Given the description of an element on the screen output the (x, y) to click on. 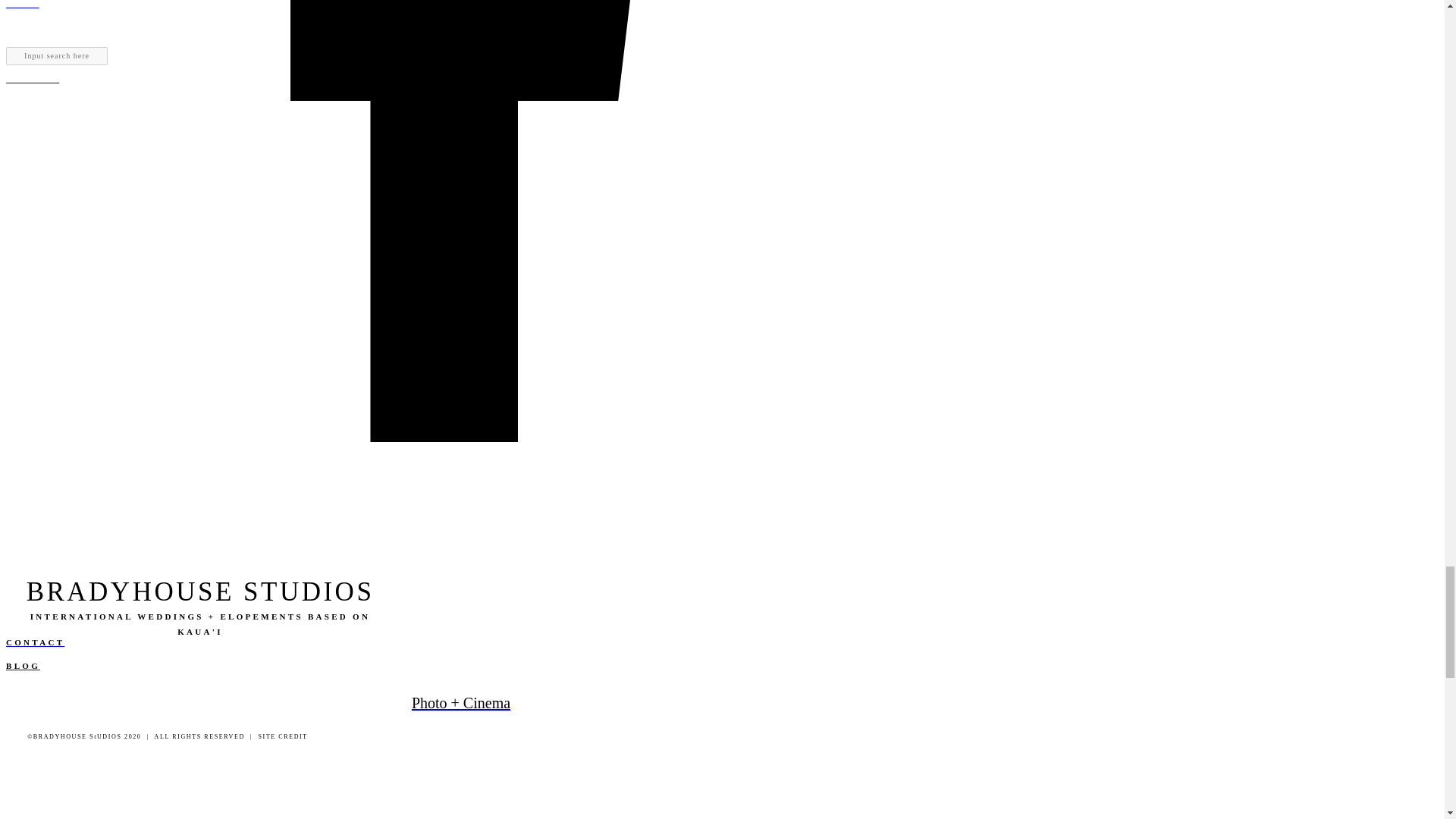
HOME (460, 5)
CONTACT (460, 79)
THE BLOG (460, 33)
